Given the description of an element on the screen output the (x, y) to click on. 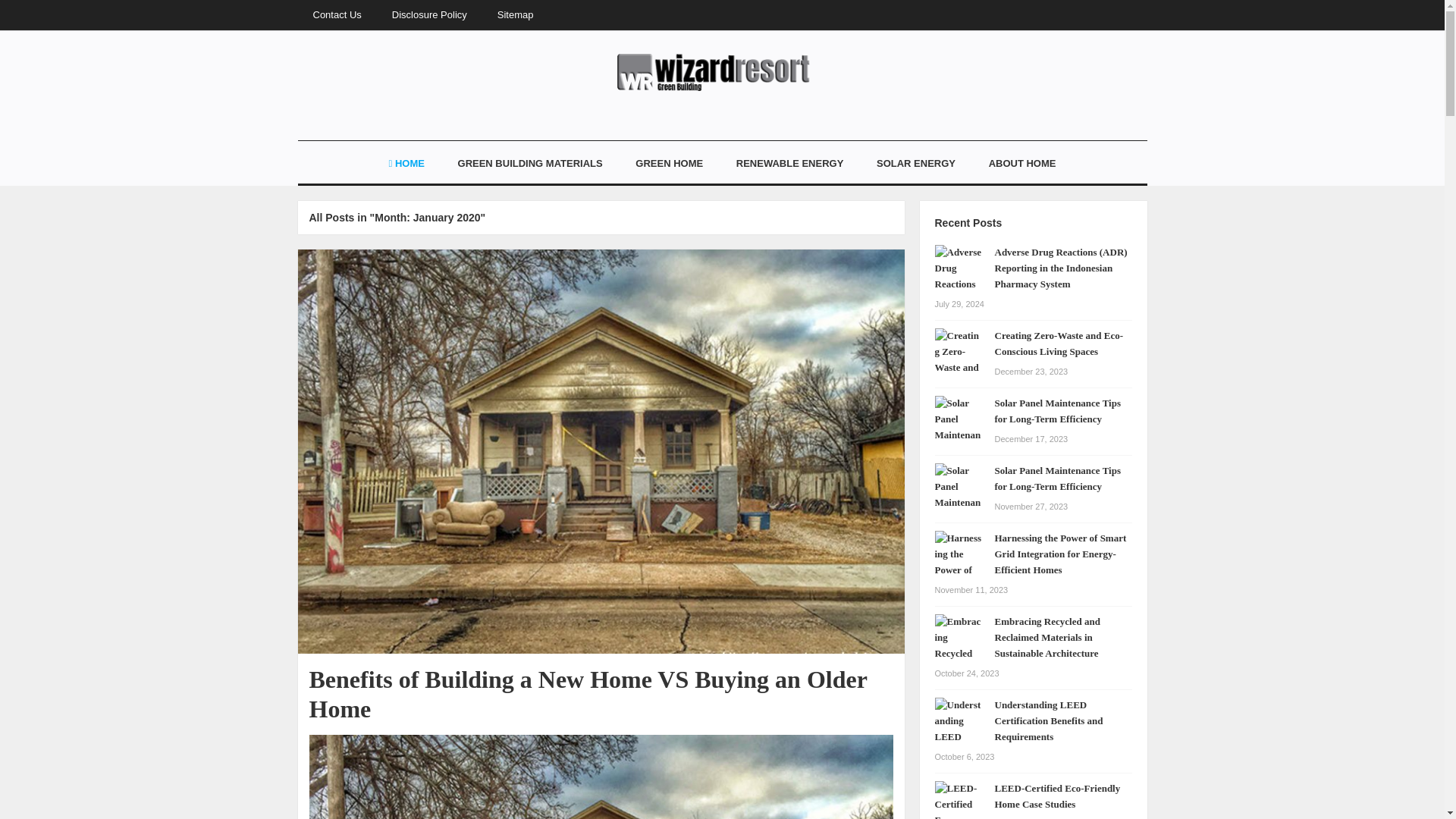
HOME (406, 163)
Sitemap (514, 15)
Disclosure Policy (429, 15)
GREEN HOME (668, 163)
ABOUT HOME (1022, 163)
Contact Us (336, 15)
RENEWABLE ENERGY (789, 163)
Benefits of Building a New Home VS Buying an Older Home (587, 693)
SOLAR ENERGY (916, 163)
GREEN BUILDING MATERIALS (529, 163)
